Given the description of an element on the screen output the (x, y) to click on. 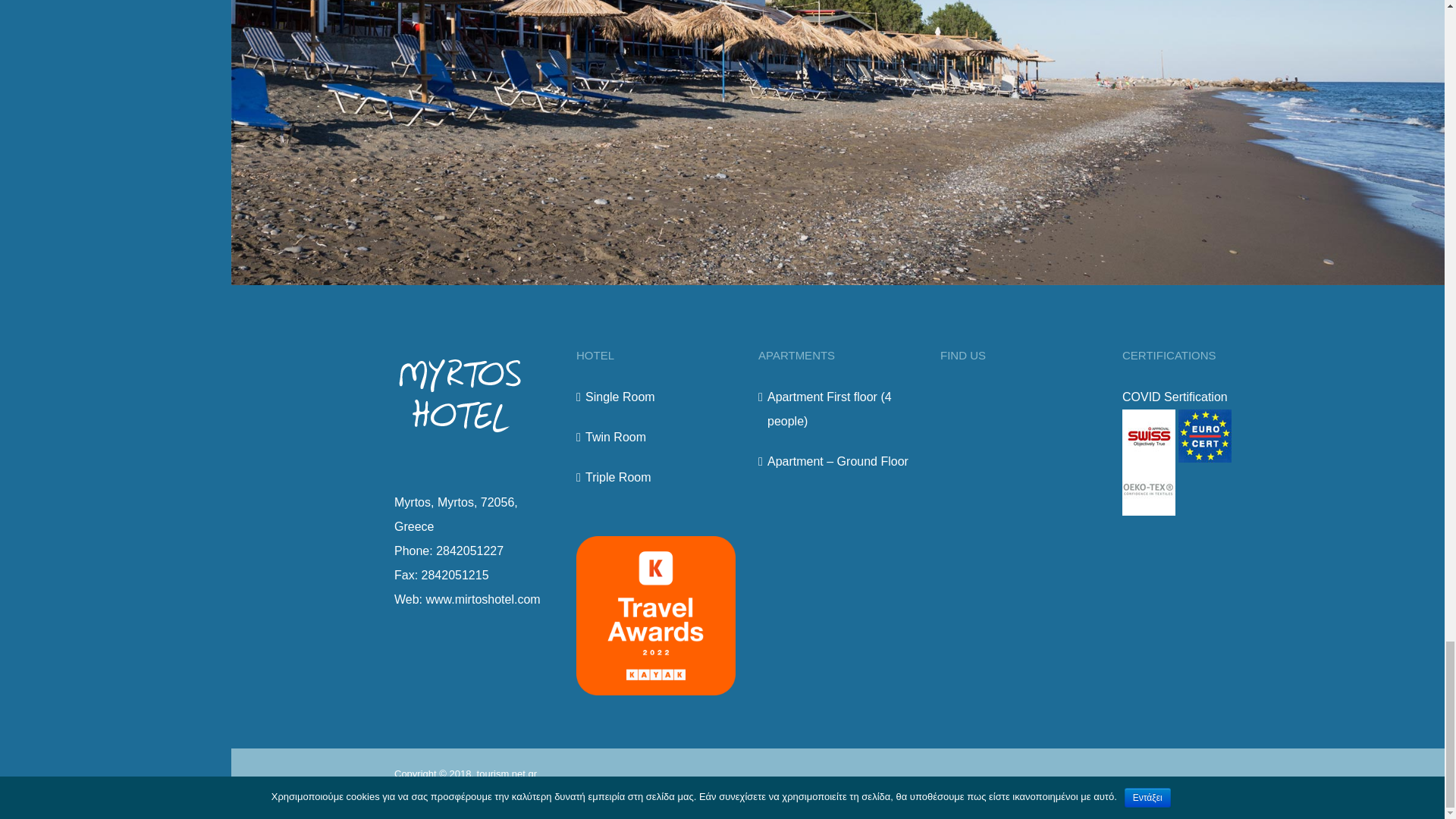
tourism.net.gr (507, 773)
